Given the description of an element on the screen output the (x, y) to click on. 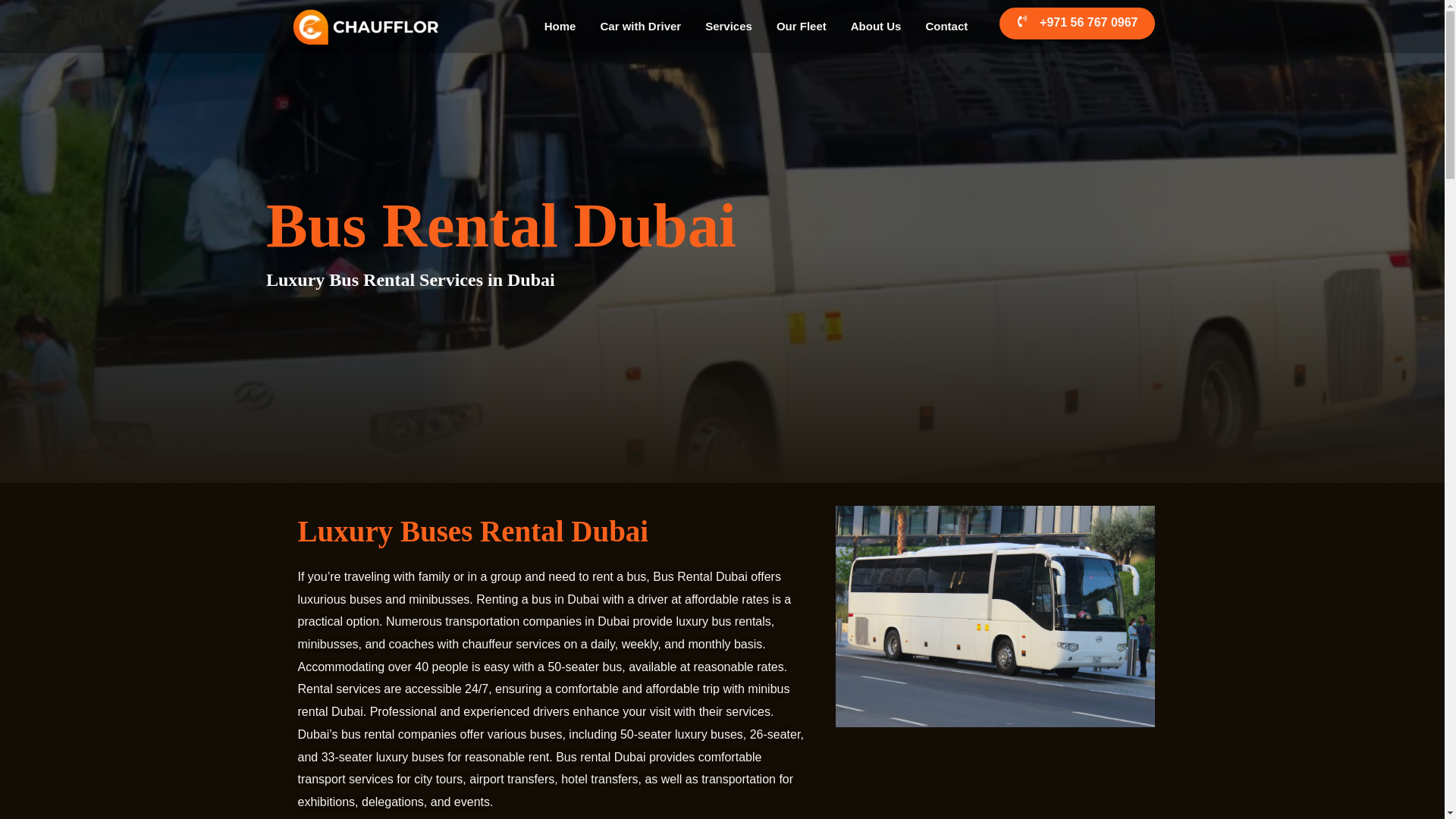
Car with Driver (640, 26)
Contact (945, 26)
Home (560, 26)
Services (728, 26)
About Us (876, 26)
Our Fleet (801, 26)
